Given the description of an element on the screen output the (x, y) to click on. 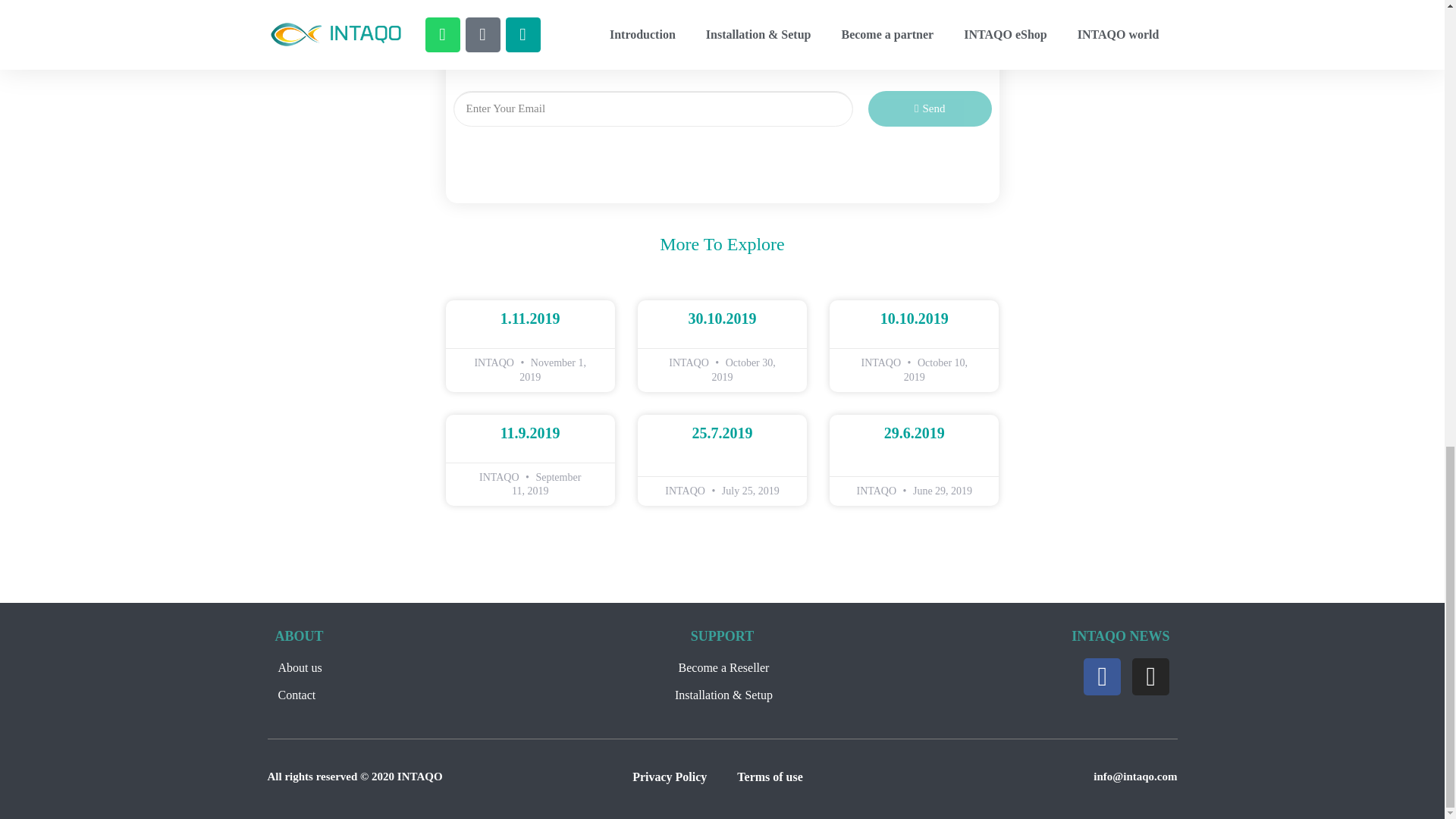
Contact (418, 695)
29.6.2019 (913, 433)
1.11.2019 (530, 318)
30.10.2019 (721, 318)
Become a Reseller (722, 668)
11.9.2019 (530, 433)
10.10.2019 (914, 318)
About us (418, 668)
Send (929, 108)
25.7.2019 (721, 433)
